Given the description of an element on the screen output the (x, y) to click on. 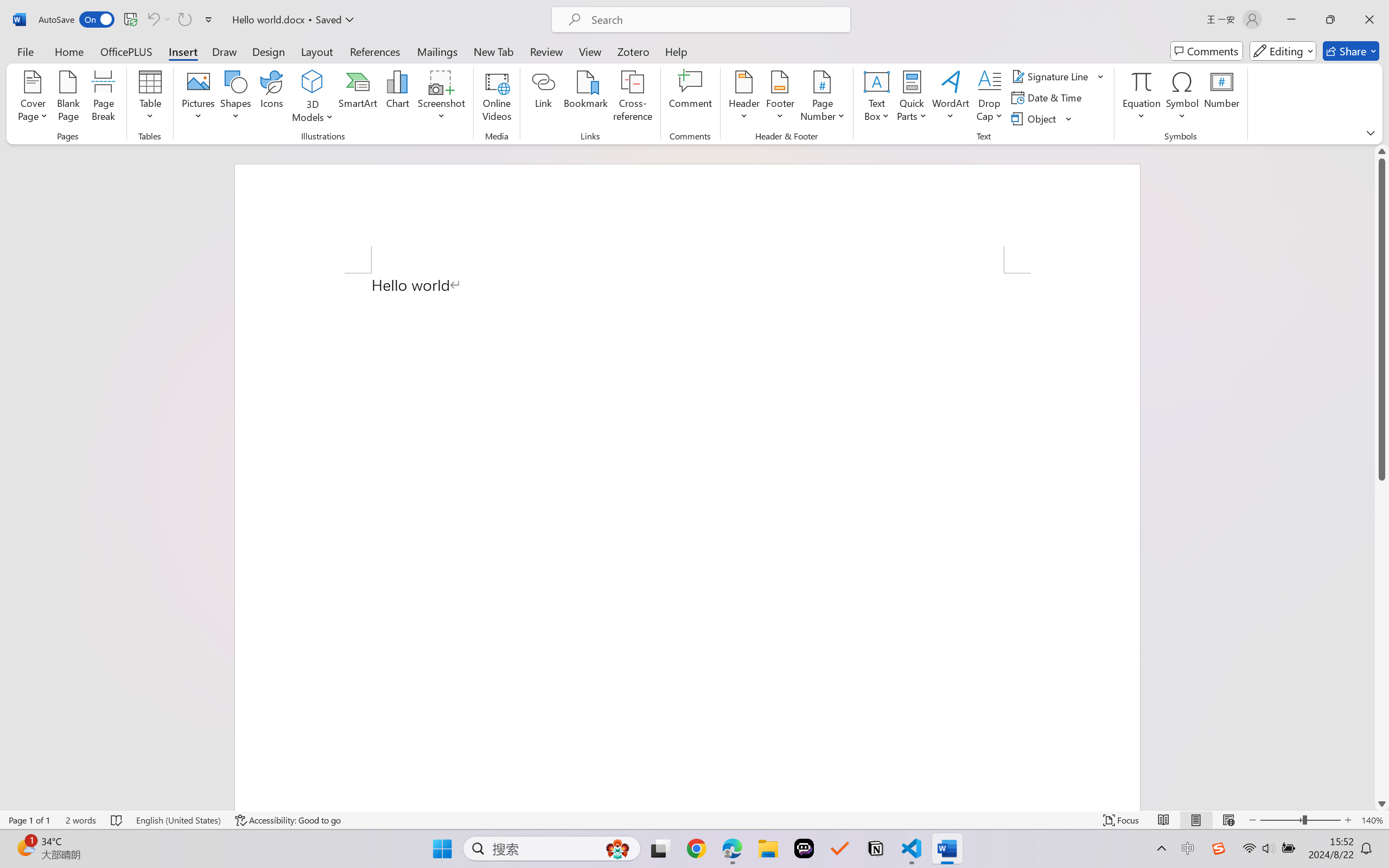
Zoom 100% (1364, 837)
Hide Ink (709, 62)
Previous (625, 47)
